Given the description of an element on the screen output the (x, y) to click on. 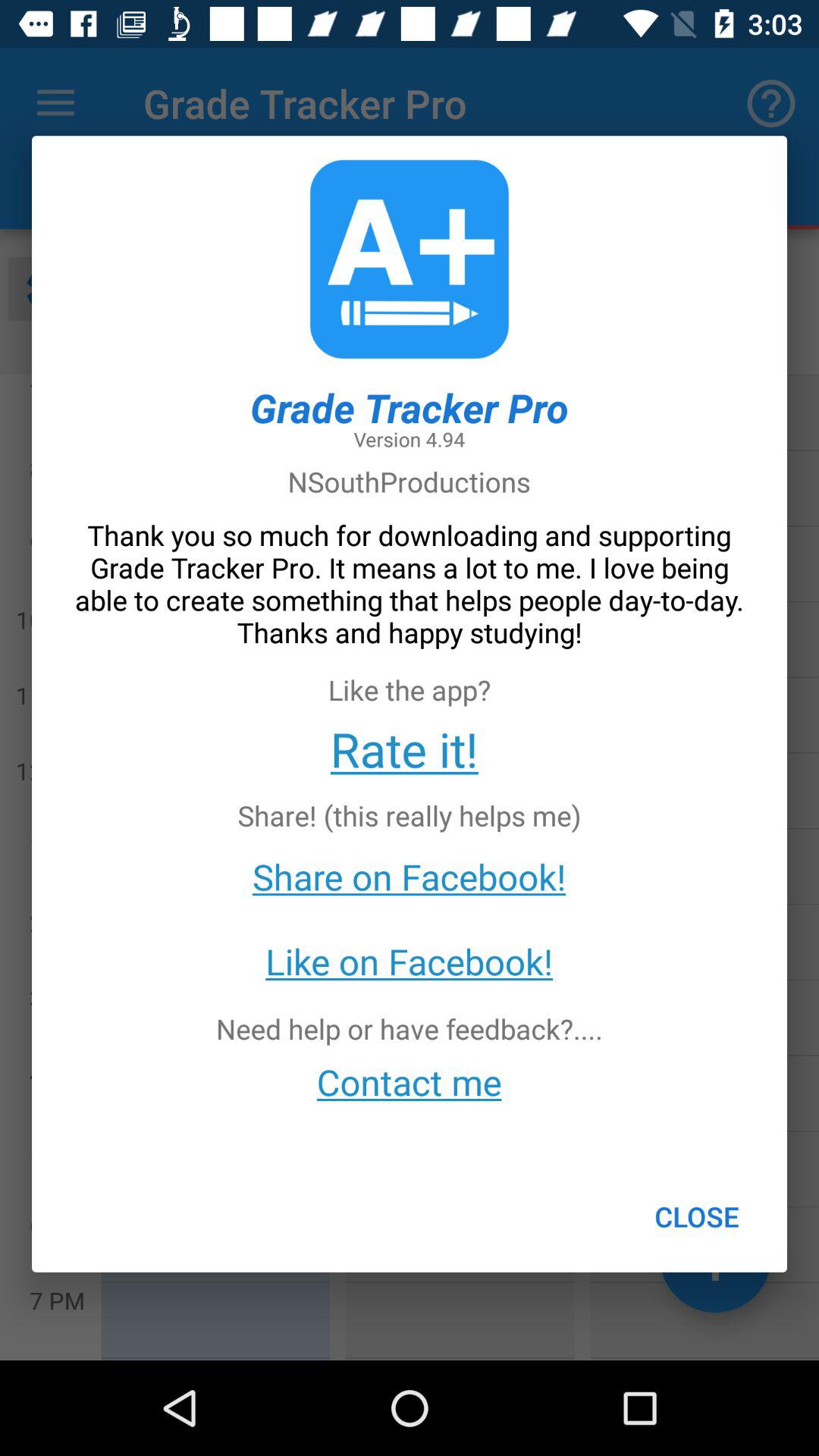
select the rate it! icon (403, 748)
